Given the description of an element on the screen output the (x, y) to click on. 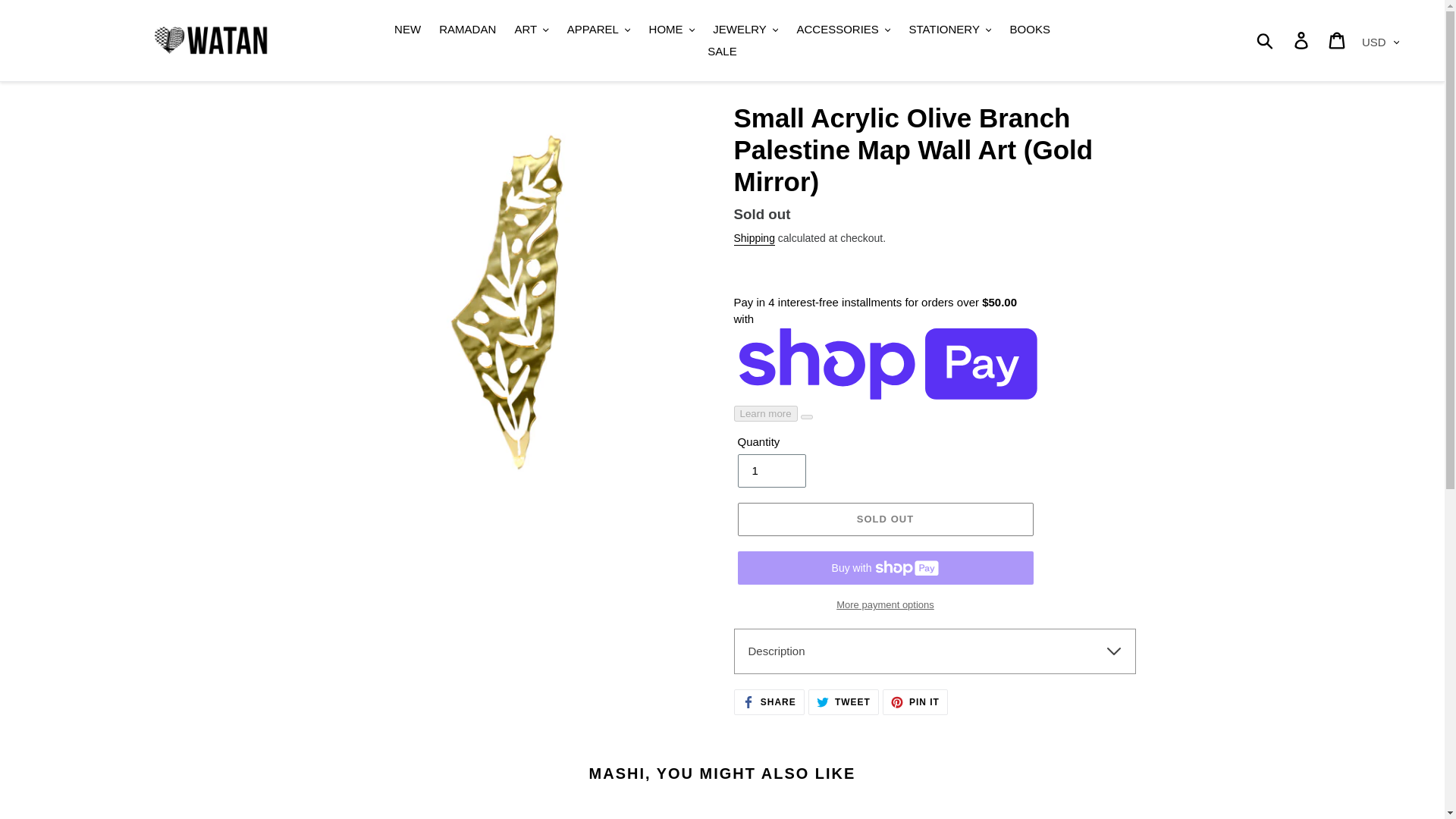
BOOKS (1030, 29)
NEW (407, 29)
RAMADAN (466, 29)
1 (770, 470)
